Given the description of an element on the screen output the (x, y) to click on. 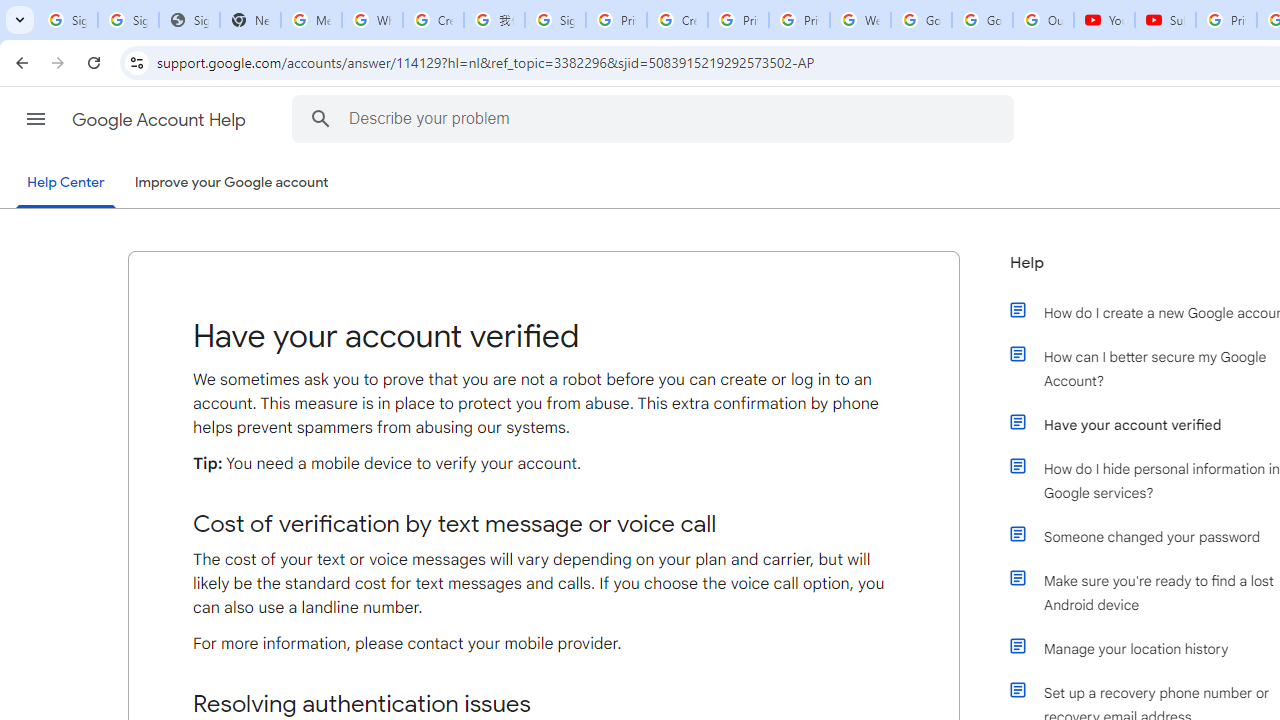
Sign In - USA TODAY (189, 20)
YouTube (1104, 20)
Help Center (65, 183)
